Given the description of an element on the screen output the (x, y) to click on. 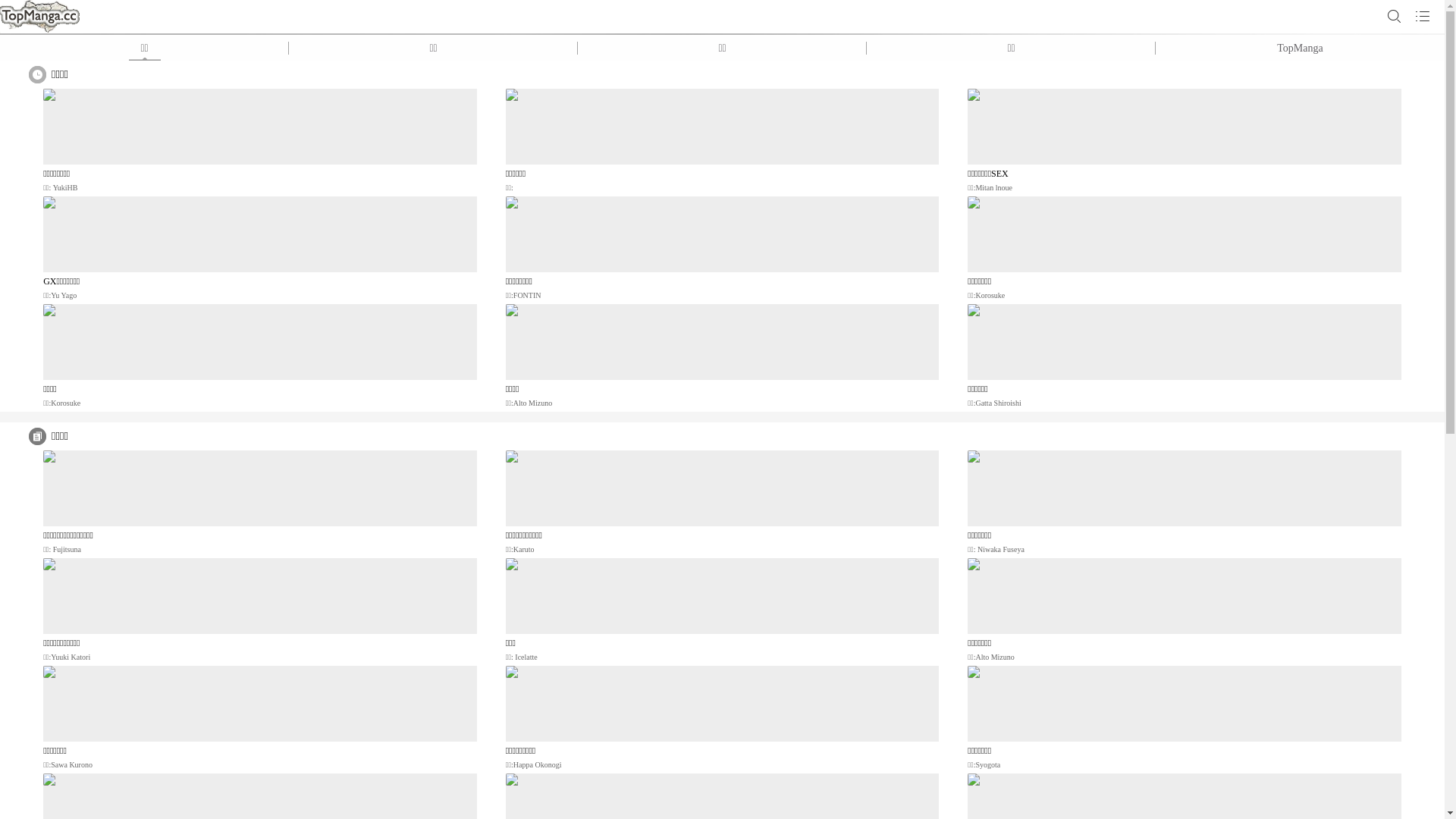
TopManga Element type: text (1299, 47)
